Given the description of an element on the screen output the (x, y) to click on. 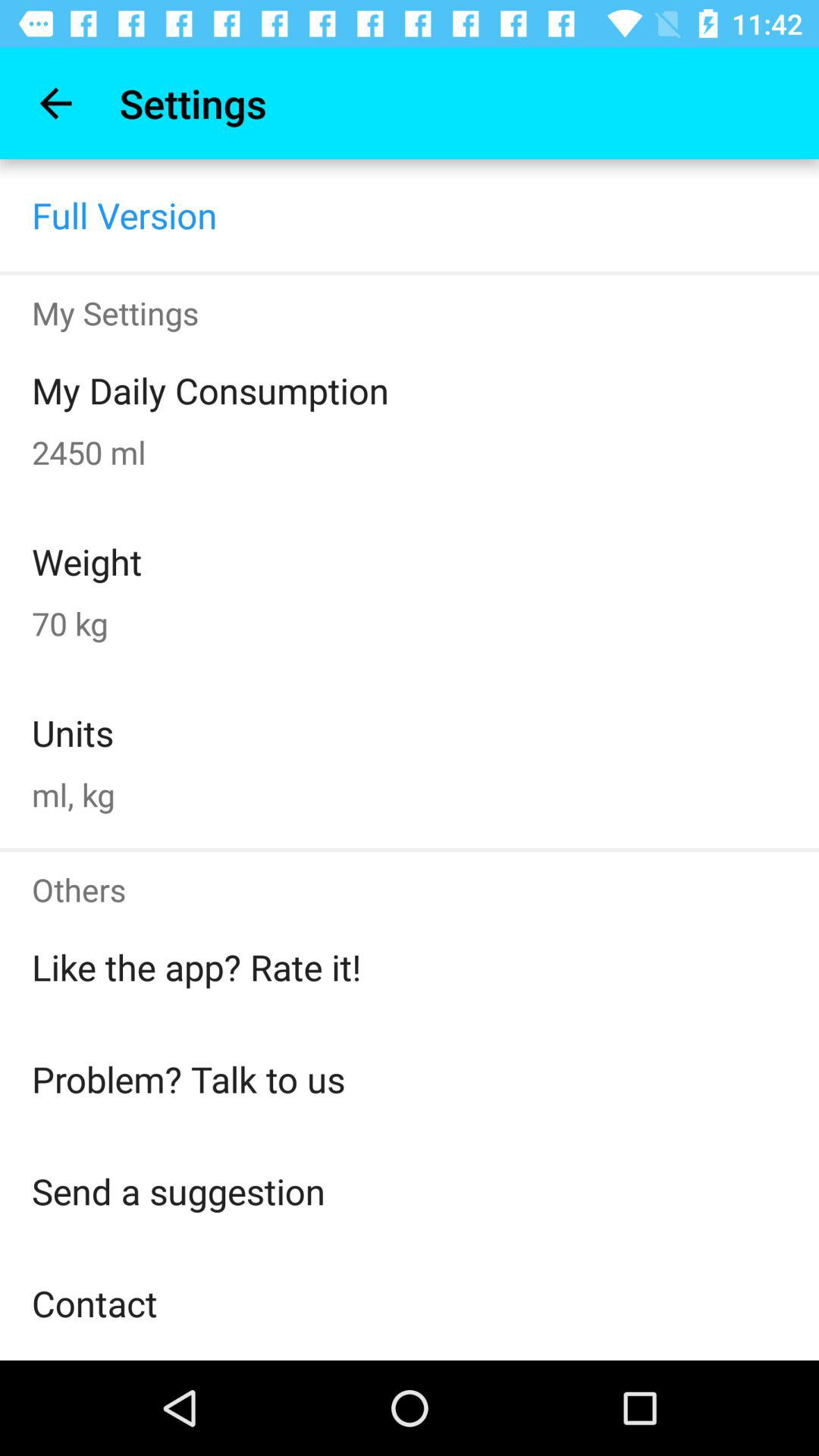
turn on item above full version (55, 103)
